Given the description of an element on the screen output the (x, y) to click on. 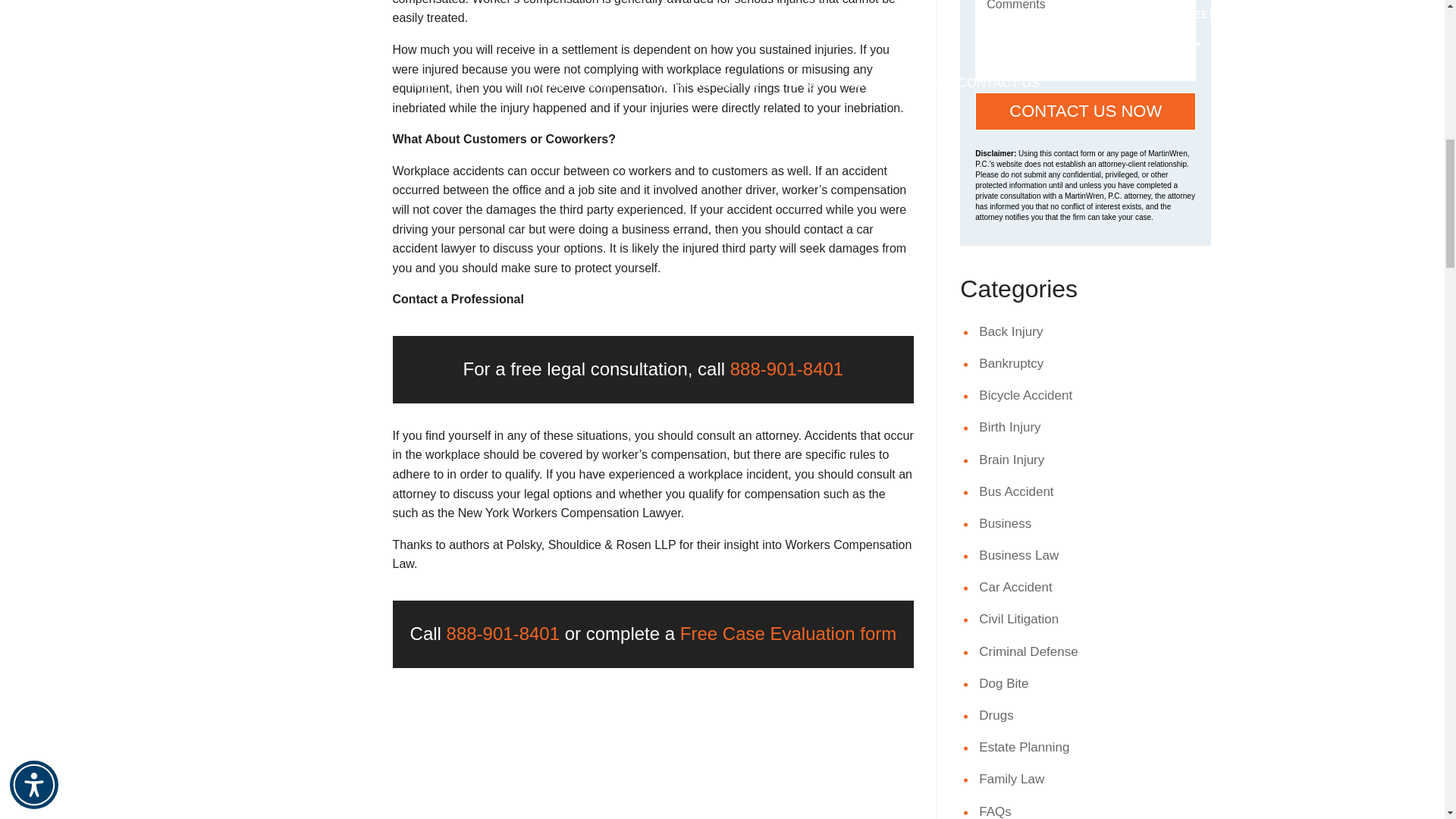
Contact Us Now (1085, 111)
